Given the description of an element on the screen output the (x, y) to click on. 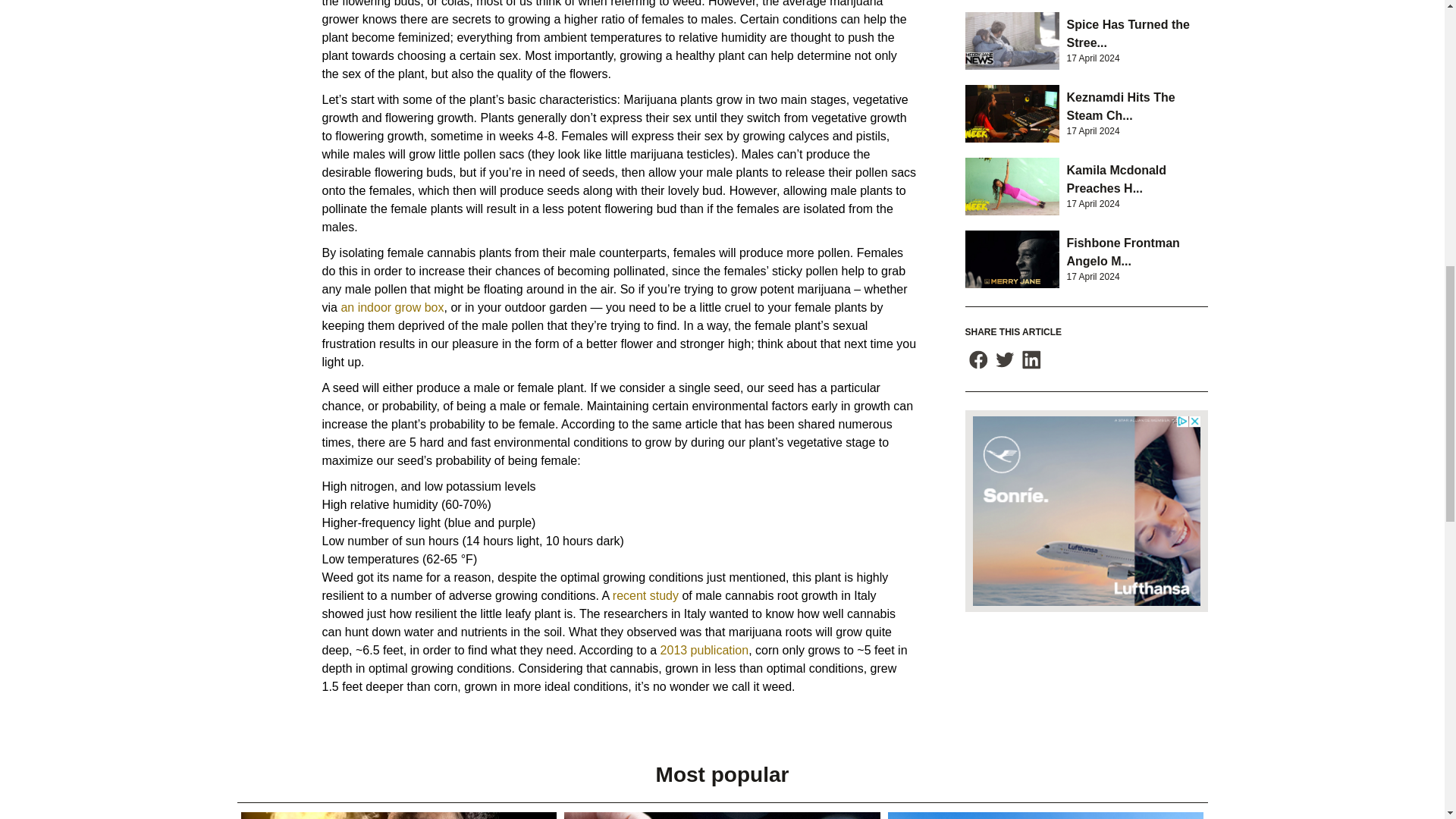
2013 publication (705, 649)
Keznamdi Hits The Steam Ch... (1119, 106)
Spice Has Turned the Stree... (1127, 33)
Kamila Mcdonald Preaches H... (1115, 178)
an indoor grow box (392, 307)
recent study (645, 594)
Fishbone Frontman Angelo M... (1122, 251)
